Given the description of an element on the screen output the (x, y) to click on. 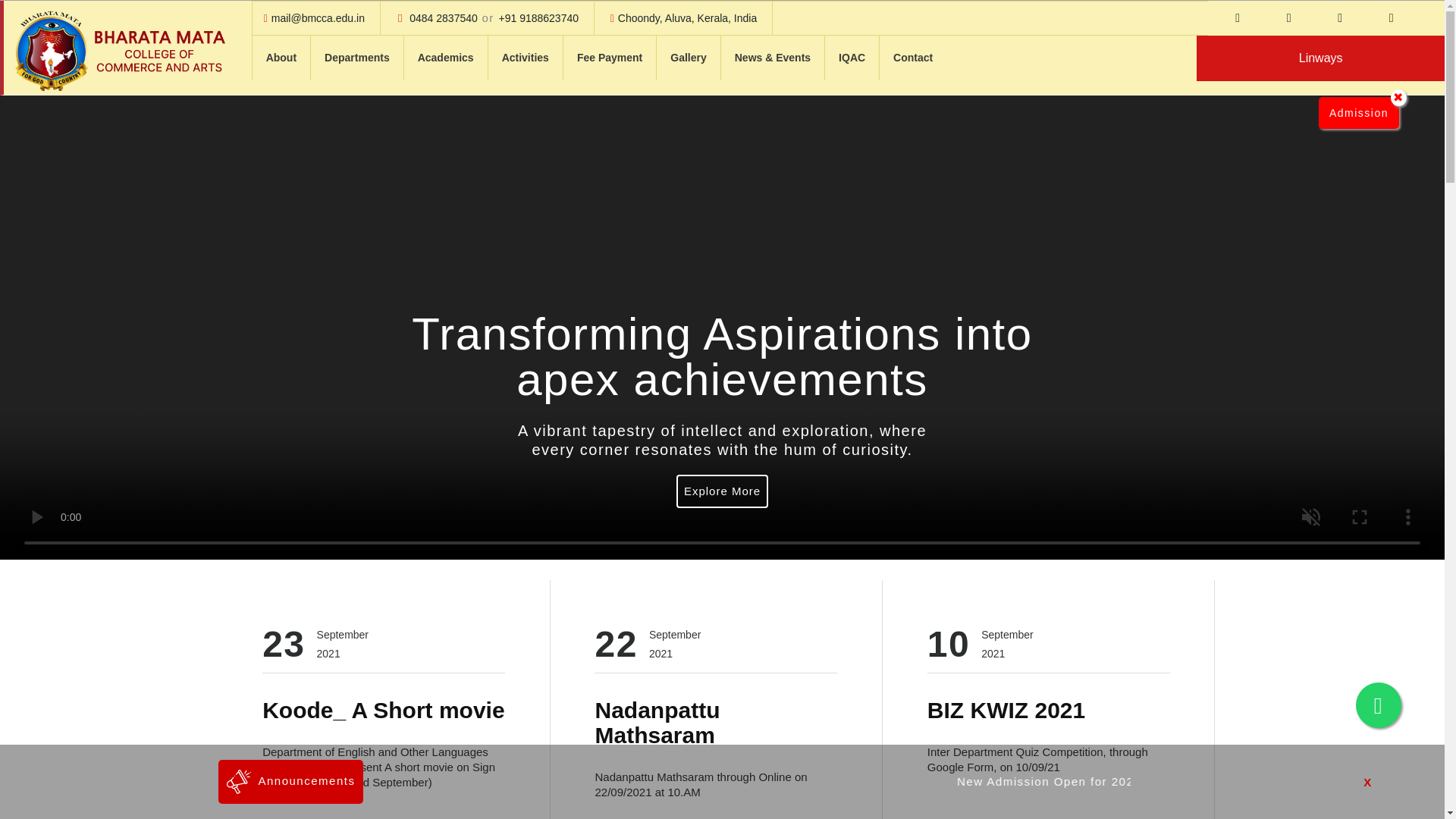
Departments (357, 58)
Academics (445, 58)
About (280, 58)
Activities (524, 58)
0484 2837540 (443, 18)
